Given the description of an element on the screen output the (x, y) to click on. 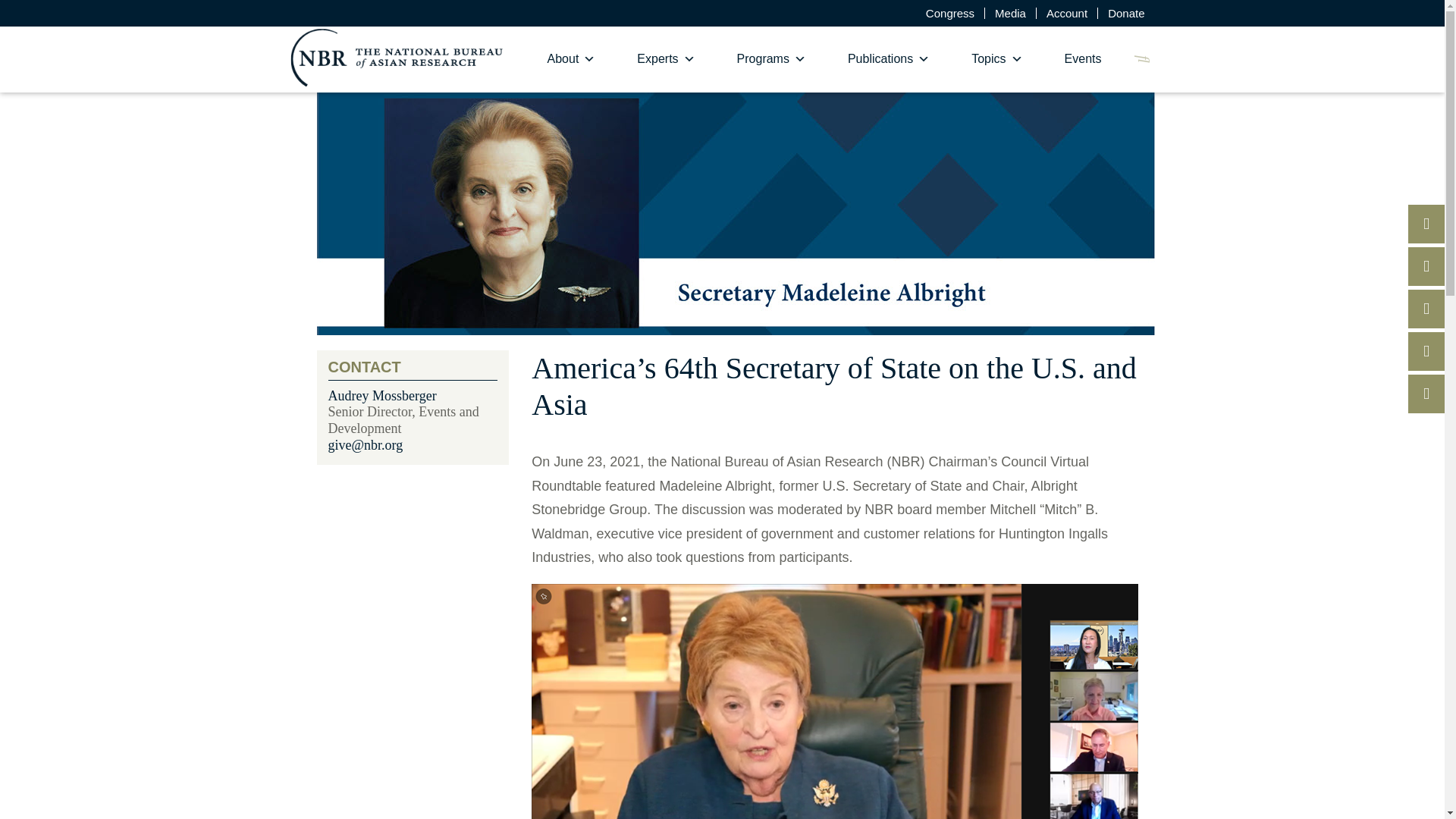
Donate (1125, 12)
About (571, 59)
Congress (949, 12)
Media (1010, 12)
Experts (665, 59)
Account (1066, 12)
Programs (771, 59)
